Given the description of an element on the screen output the (x, y) to click on. 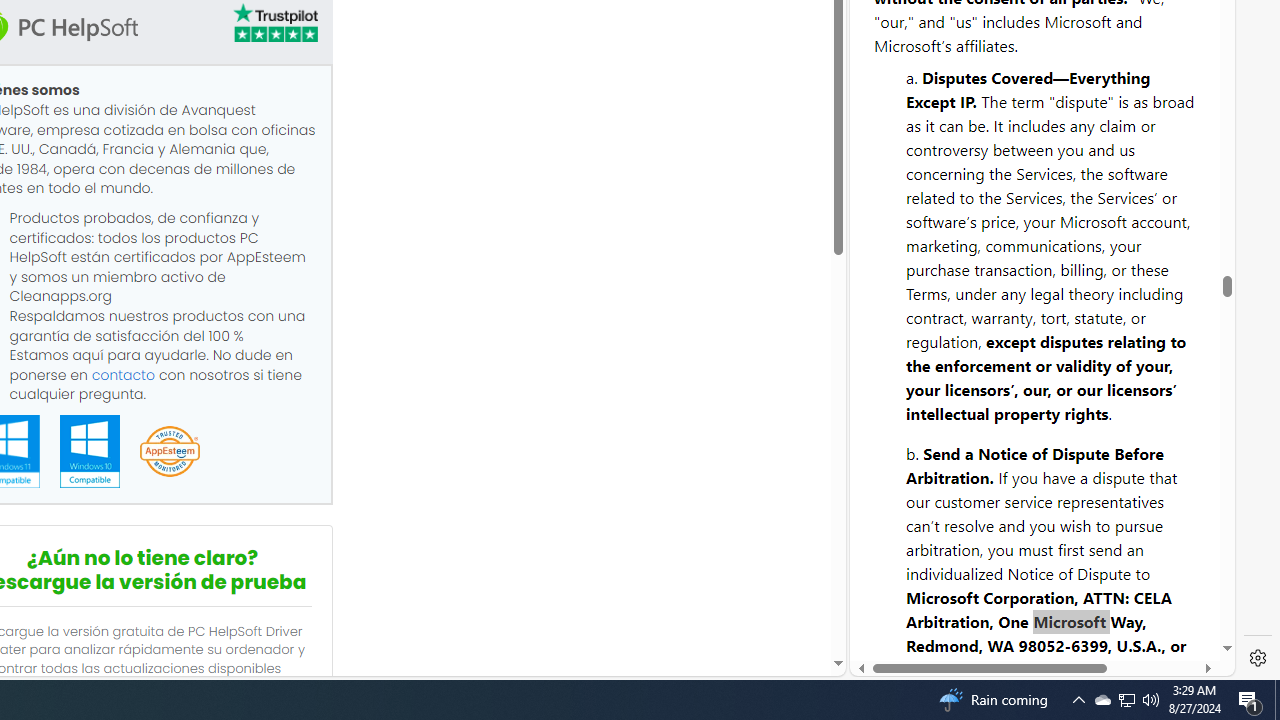
contacto (123, 374)
